Given the description of an element on the screen output the (x, y) to click on. 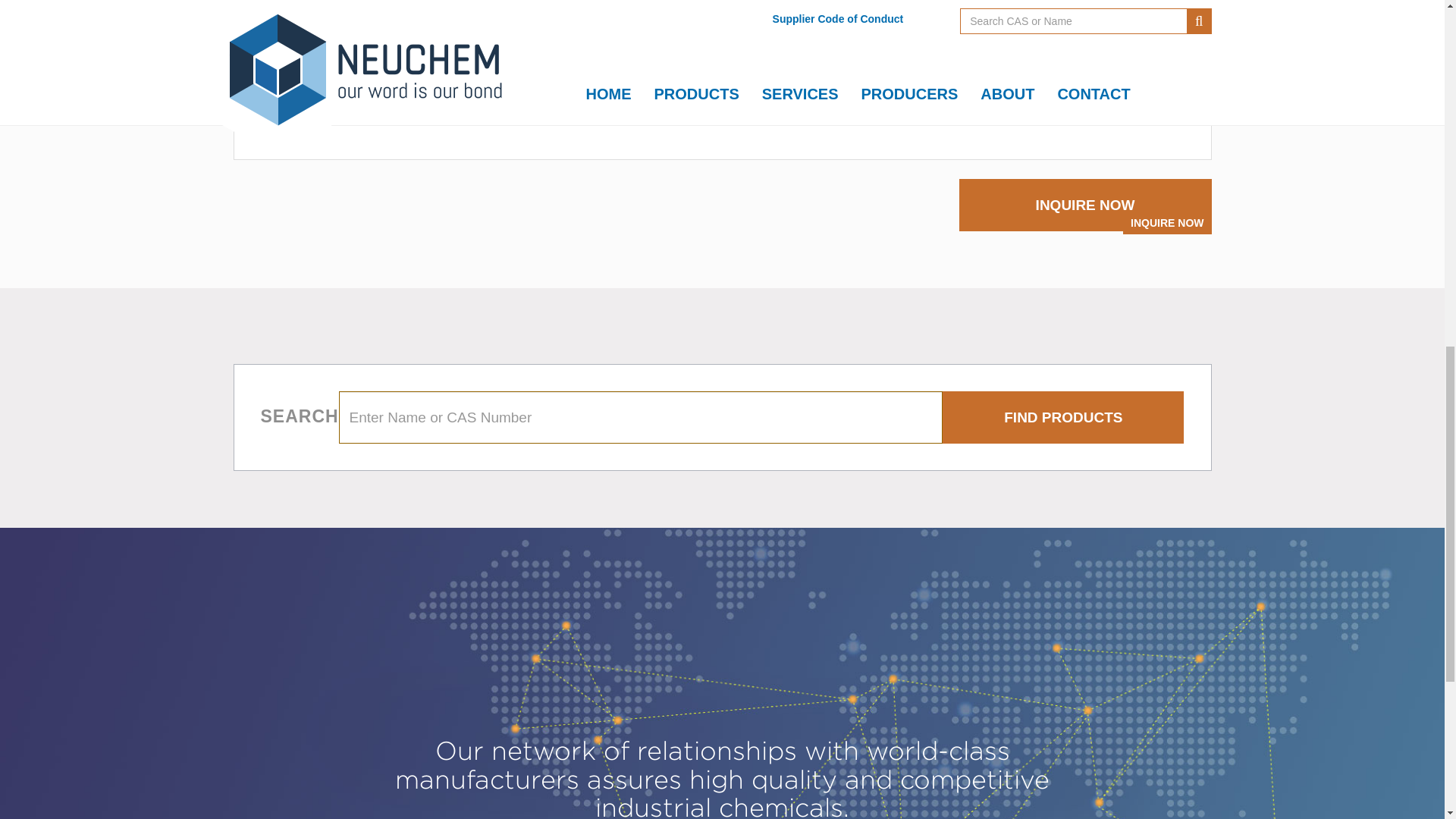
INQUIRE NOW (1085, 204)
FIND PRODUCTS (1062, 417)
